Given the description of an element on the screen output the (x, y) to click on. 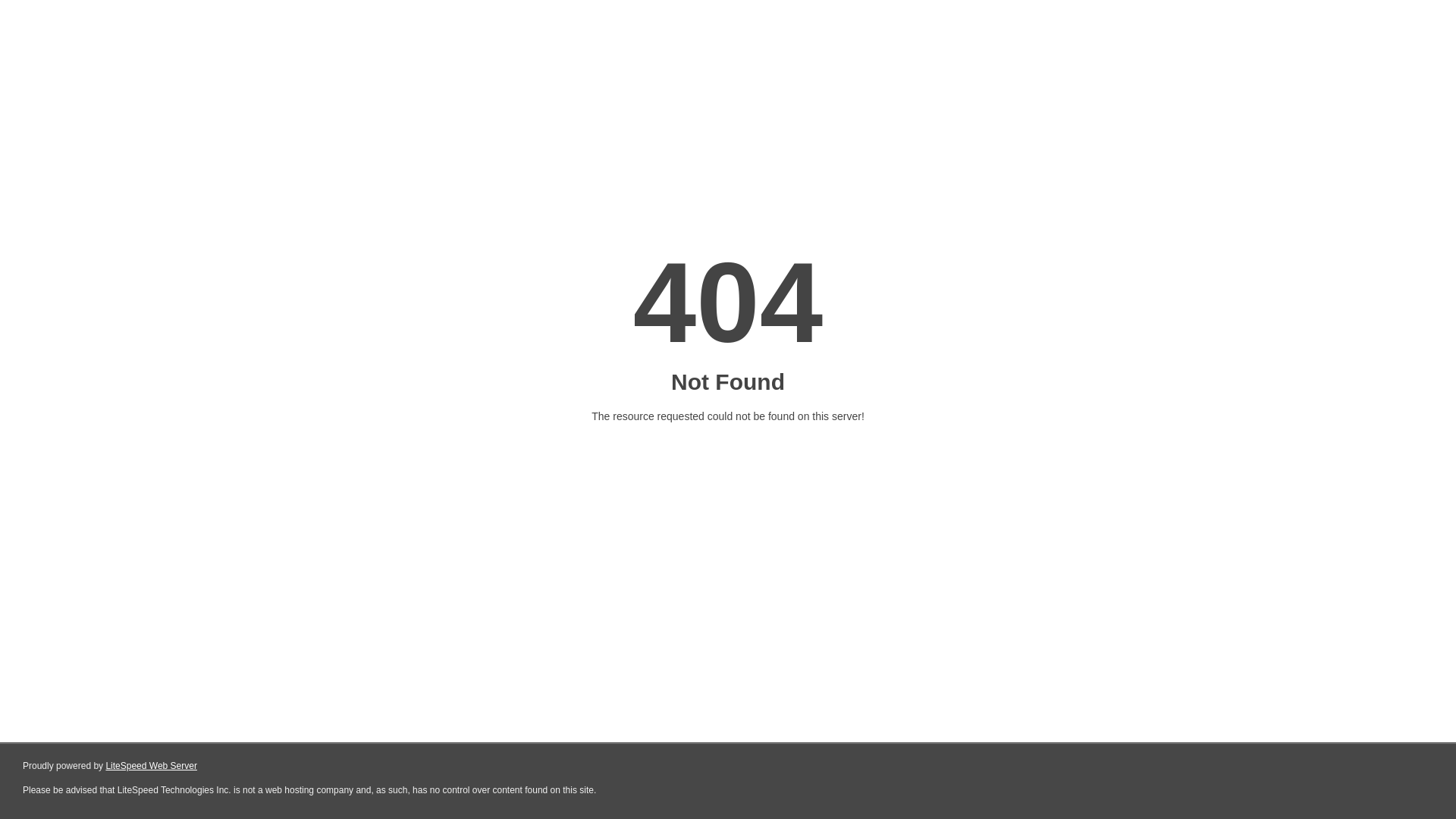
LiteSpeed Web Server Element type: text (151, 765)
